Given the description of an element on the screen output the (x, y) to click on. 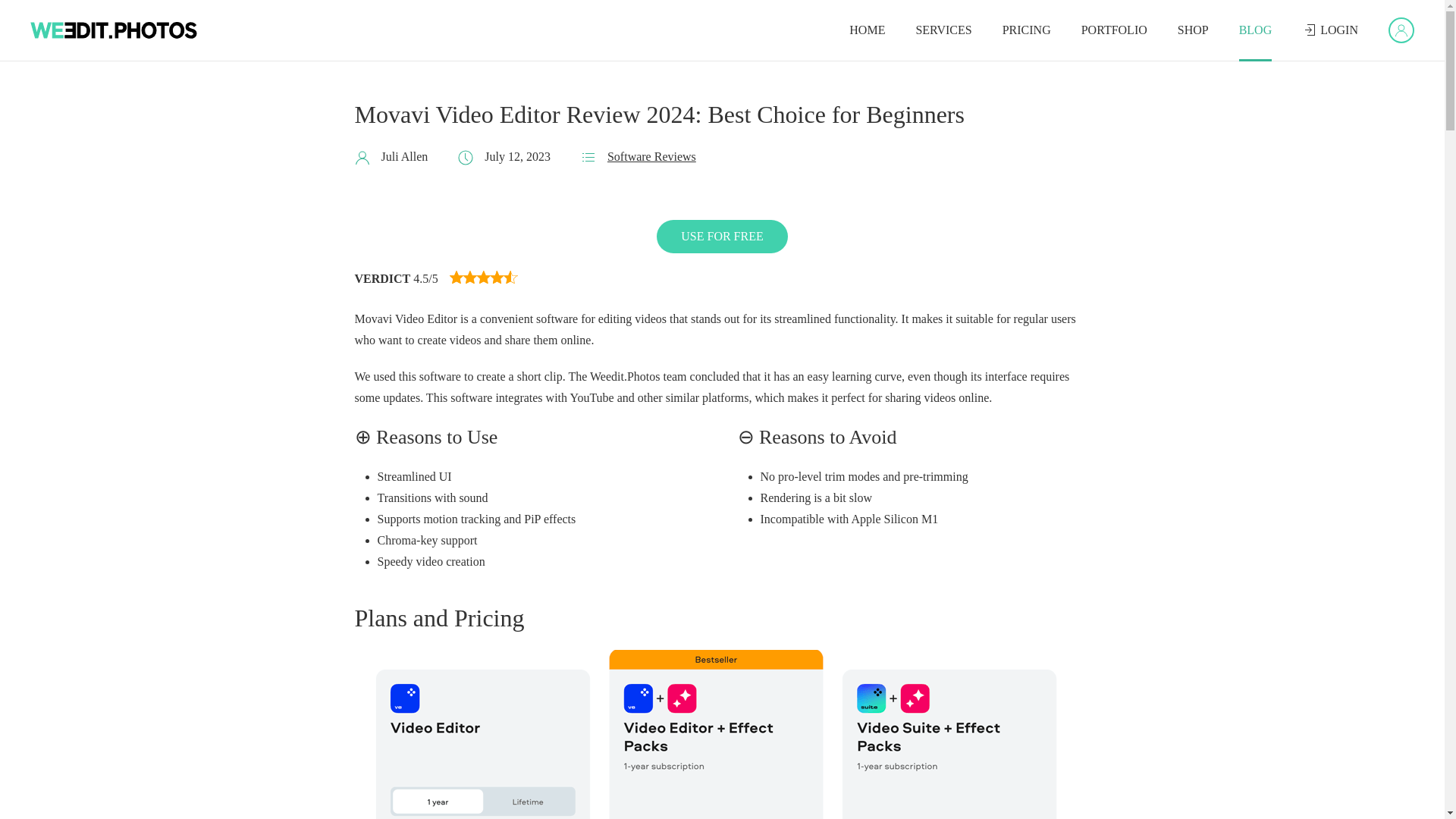
USE FOR FREE (707, 156)
PRICING (722, 236)
LOGIN (1026, 30)
SHOP (1330, 30)
HOME (1192, 30)
Plans and Pricing (866, 30)
Movavi Video Editor Review 2024: Best Choice for Beginners (722, 618)
Use Movavi Editor (722, 115)
SERVICES (721, 236)
PORTFOLIO (943, 30)
USE FOR FREE (1113, 30)
Software Reviews (721, 236)
BLOG (651, 155)
